Given the description of an element on the screen output the (x, y) to click on. 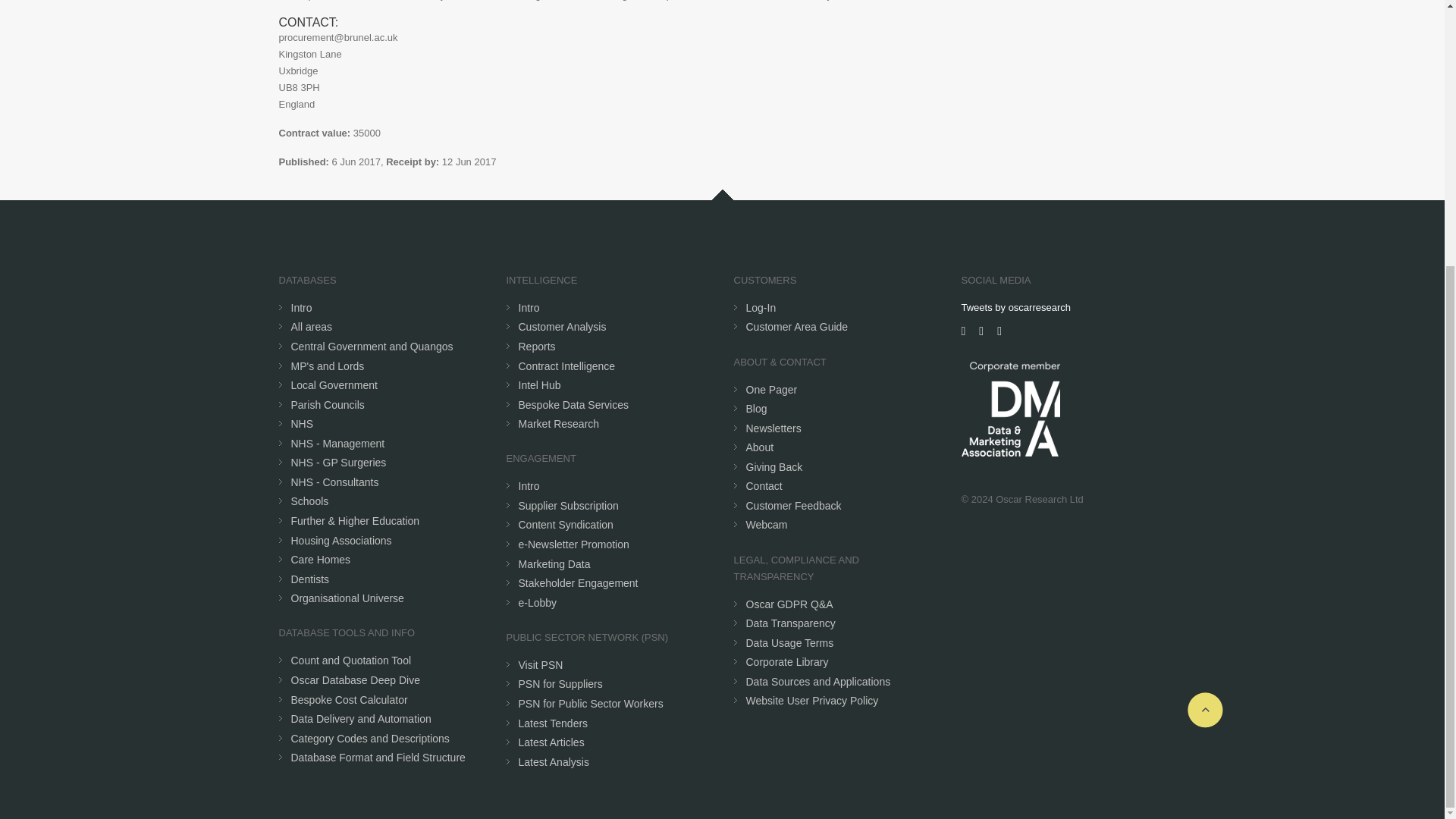
MP's and Lords (328, 366)
Local Government (334, 385)
NHS - GP Surgeries (339, 462)
NHS - Management (338, 443)
NHS (302, 423)
Intro (302, 307)
Parish Councils (328, 404)
All areas (311, 326)
Central Government and Quangos (371, 346)
NHS - Consultants (334, 481)
